Given the description of an element on the screen output the (x, y) to click on. 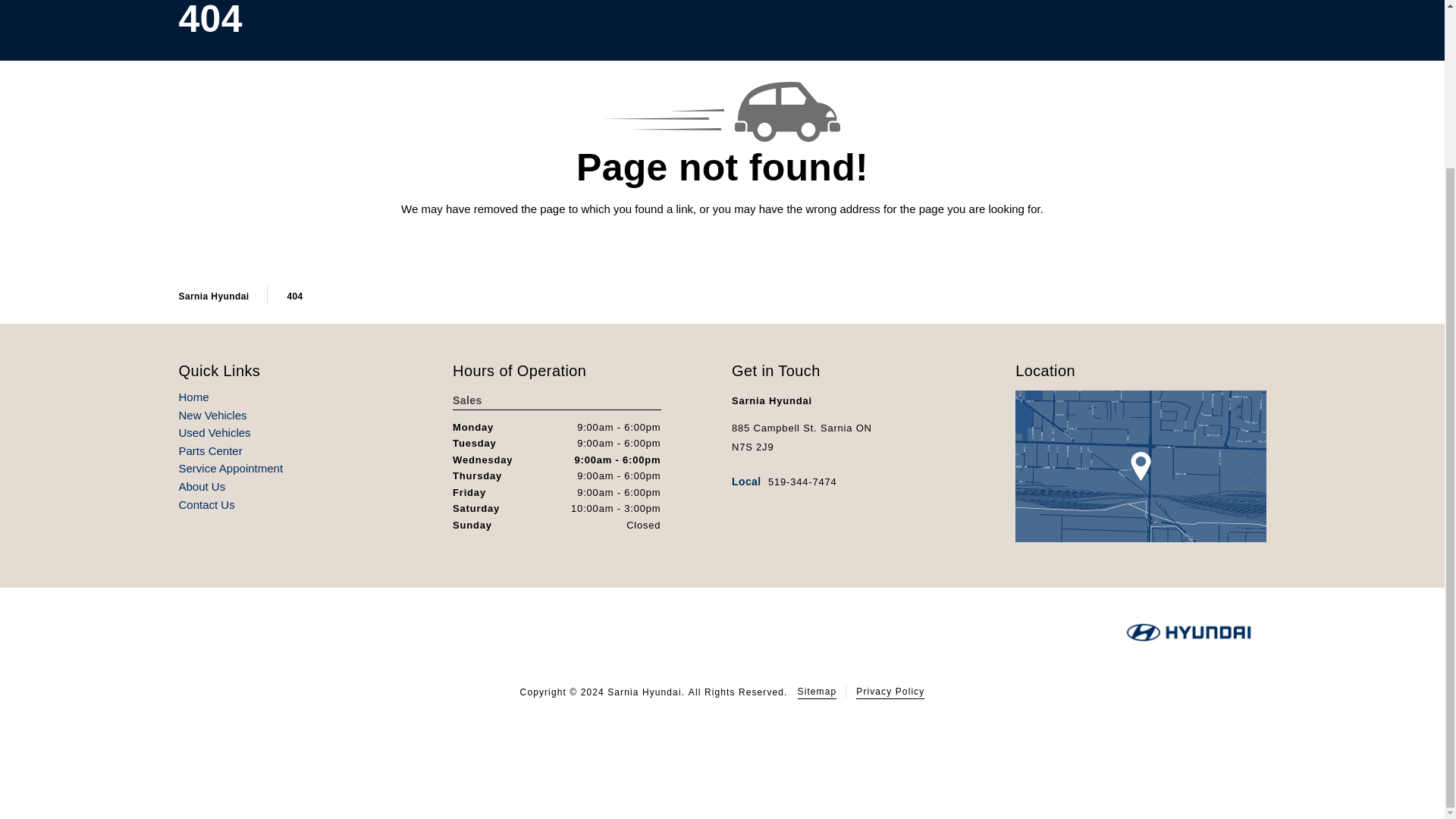
Sitemap (817, 691)
Go to Sarnia Hyundai. (213, 296)
Sarnia Hyundai (213, 296)
Location Image Map (1139, 466)
New Vehicles (213, 415)
Parts Center (211, 451)
Home (194, 397)
Call 519-344-7474 (784, 481)
Privacy Policy (890, 691)
Powered by EDealer (721, 747)
